Given the description of an element on the screen output the (x, y) to click on. 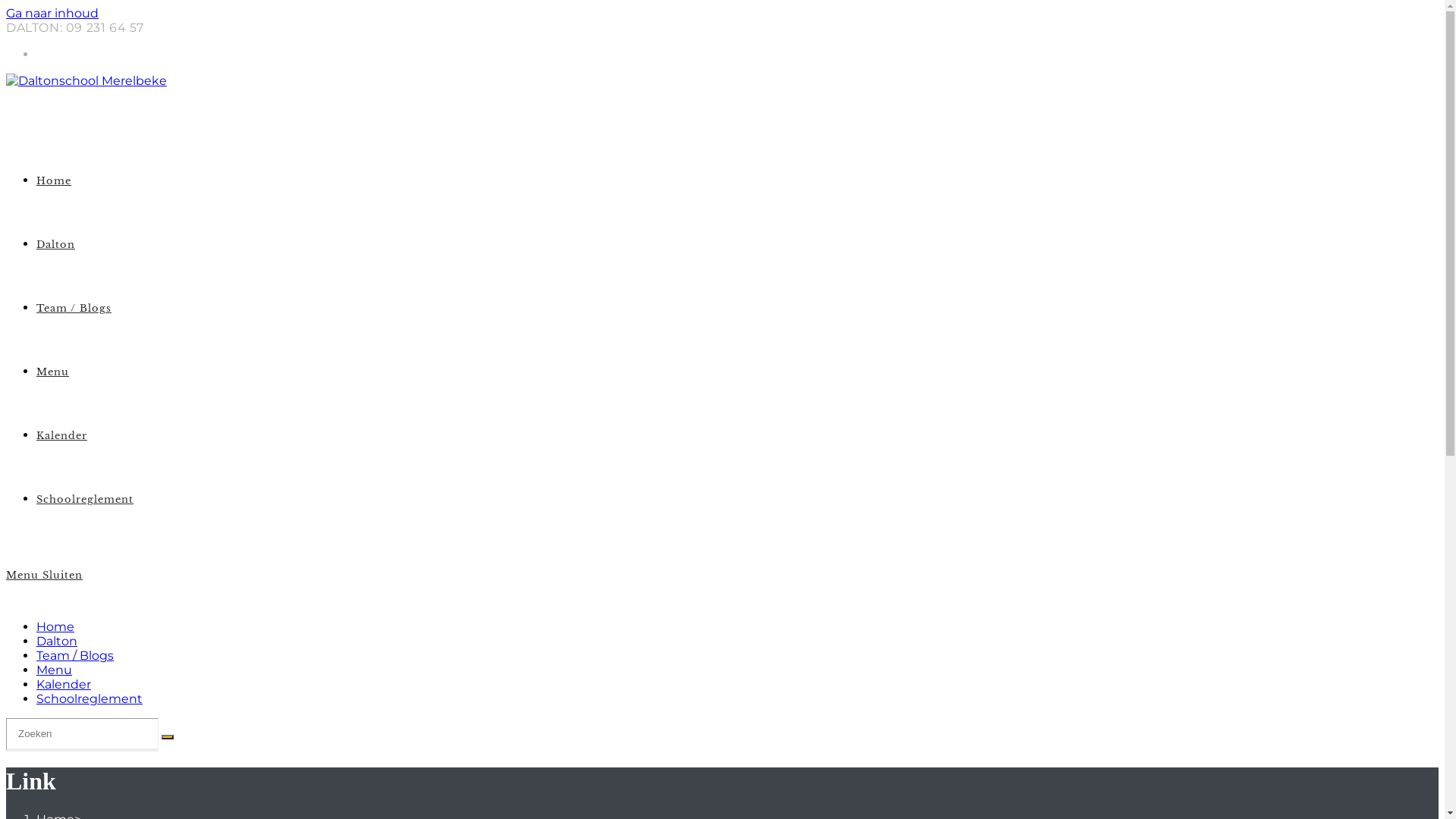
Menu Element type: text (54, 669)
Team / Blogs Element type: text (73, 307)
Team / Blogs Element type: text (74, 655)
Kalender Element type: text (61, 435)
Home Element type: text (53, 180)
Menu Sluiten Element type: text (44, 574)
Home Element type: text (55, 626)
Schoolreglement Element type: text (84, 498)
Kalender Element type: text (63, 684)
Ga naar inhoud Element type: text (52, 13)
Menu Element type: text (52, 371)
Dalton Element type: text (56, 640)
Schoolreglement Element type: text (89, 698)
Dalton Element type: text (55, 244)
